Given the description of an element on the screen output the (x, y) to click on. 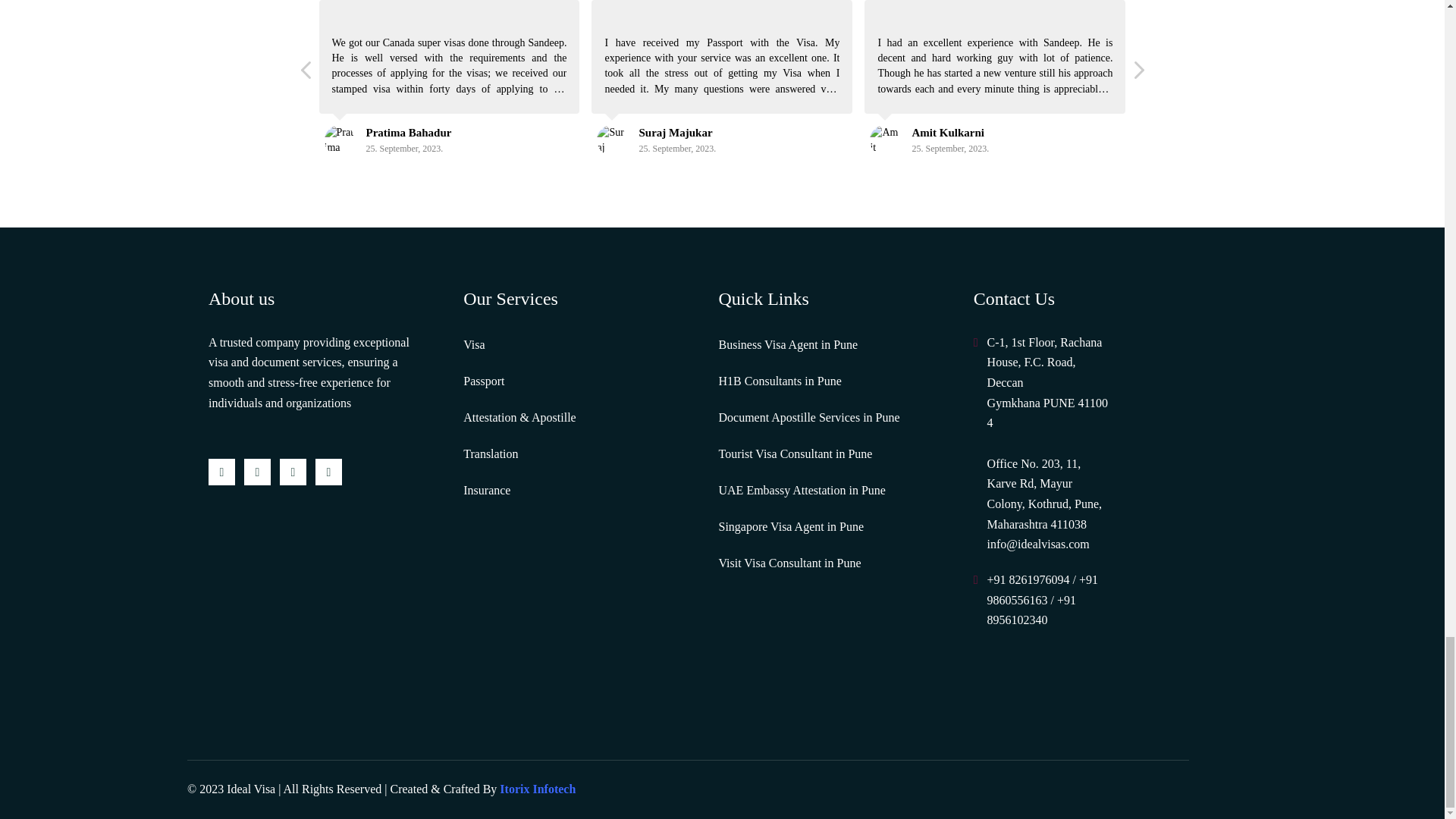
Passport (483, 381)
Visa (473, 344)
Insurance (487, 490)
Translation (490, 454)
